Given the description of an element on the screen output the (x, y) to click on. 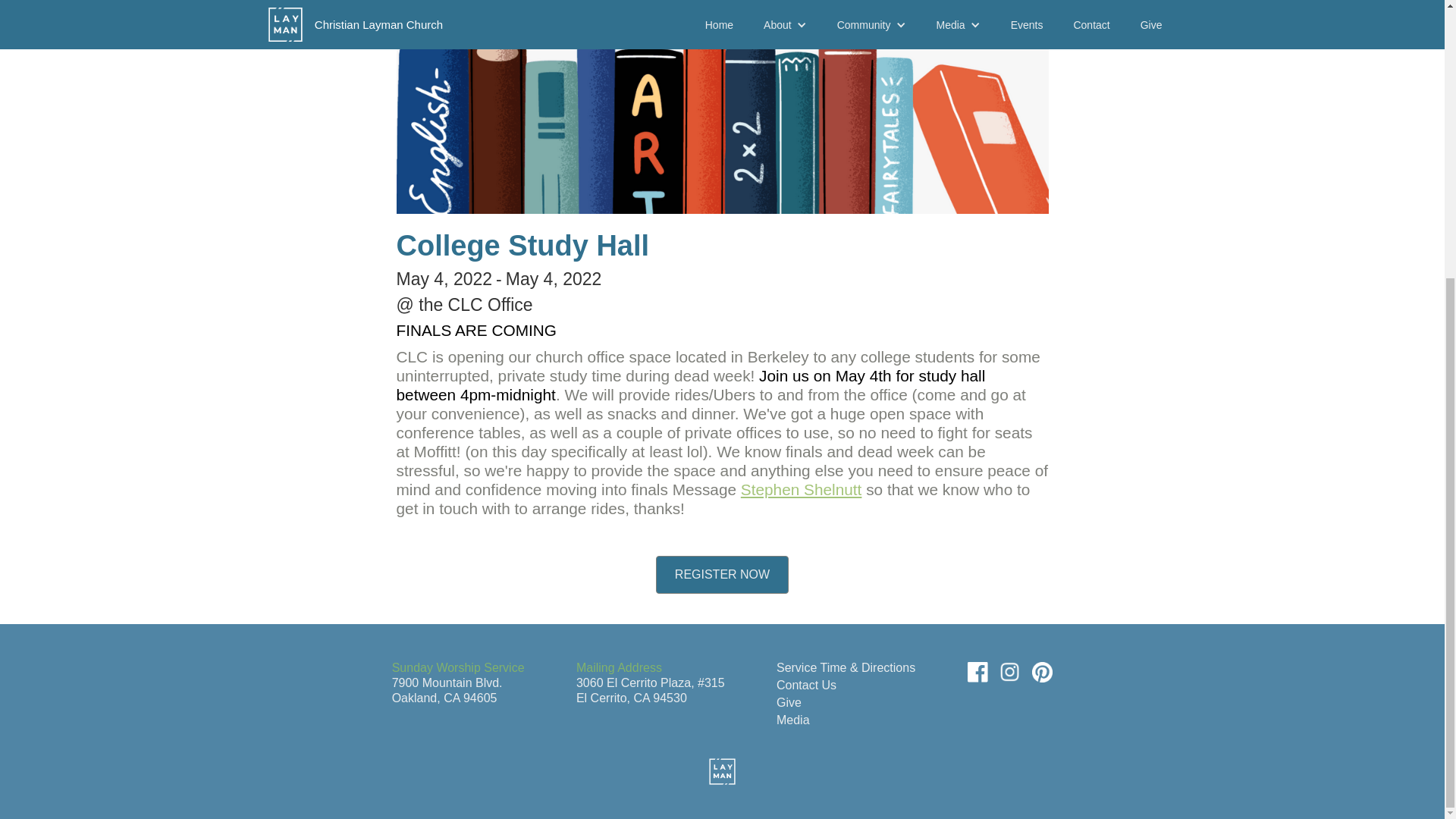
Contact Us (805, 684)
Media (792, 719)
Give (789, 702)
Stephen Shelnutt (801, 488)
REGISTER NOW (722, 574)
